Given the description of an element on the screen output the (x, y) to click on. 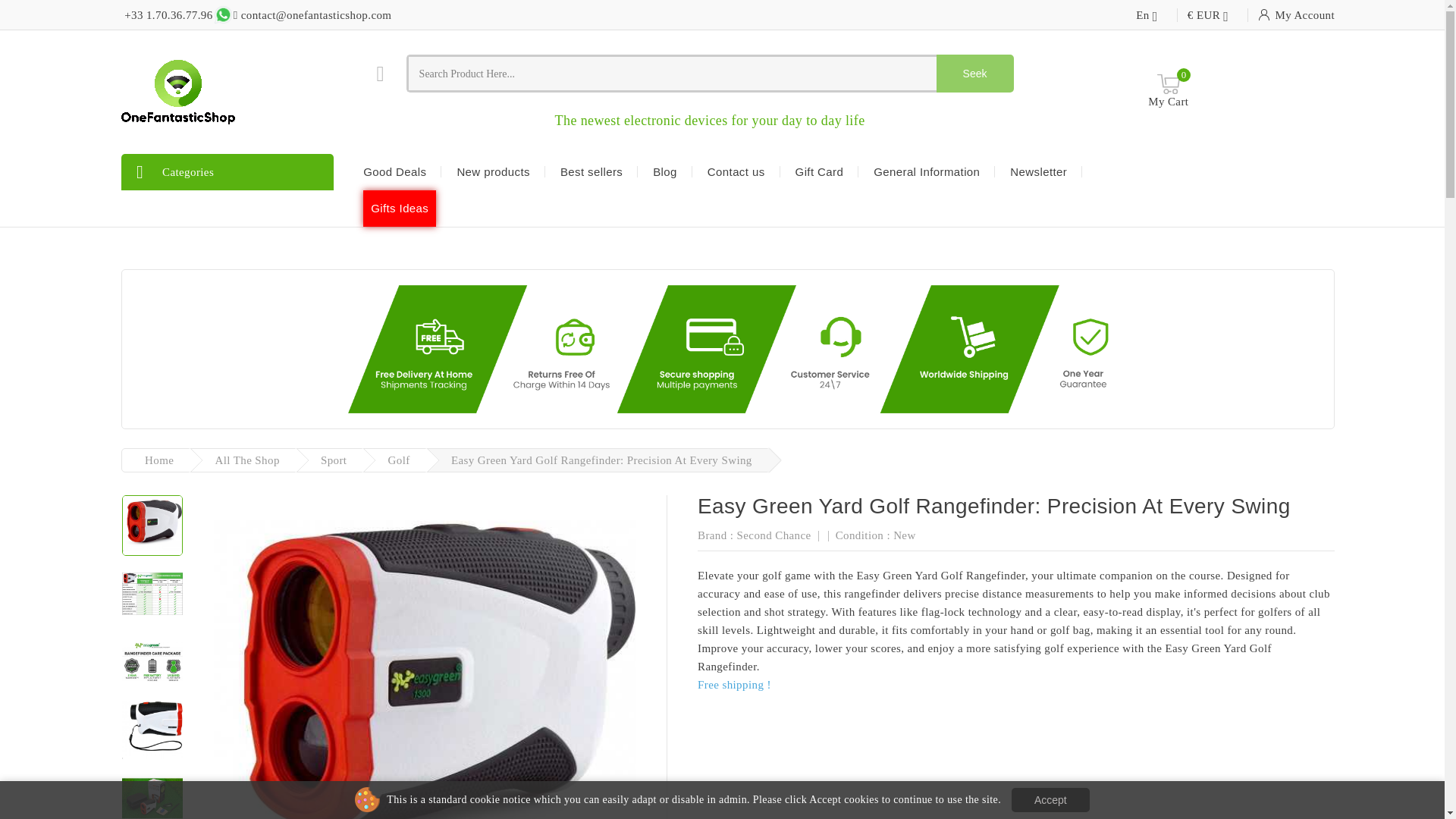
Seek (974, 73)
Log in to your customer account (1296, 15)
My Account (1296, 15)
